Given the description of an element on the screen output the (x, y) to click on. 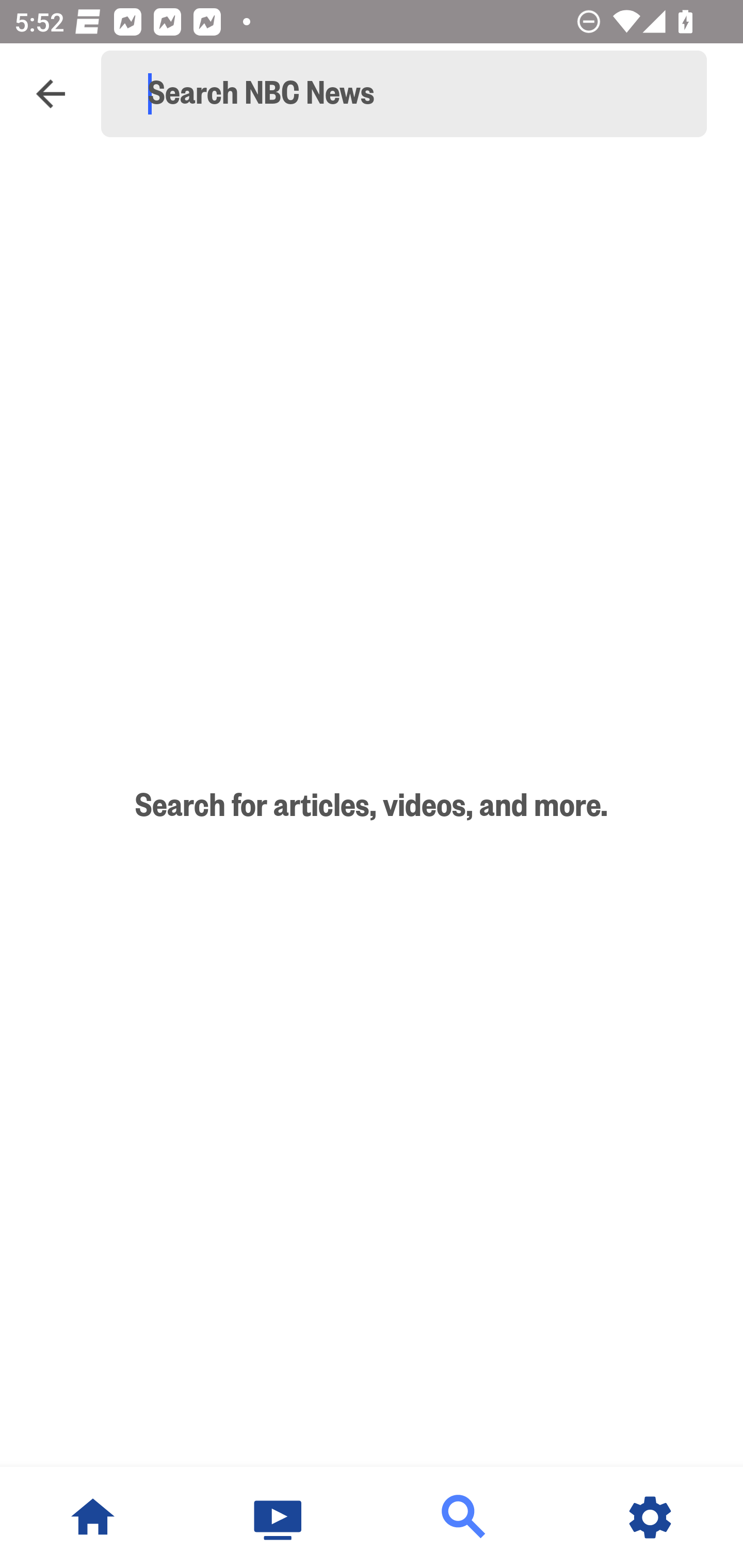
Navigate up (50, 93)
Search NBC News (412, 94)
NBC News Home (92, 1517)
Watch (278, 1517)
Settings (650, 1517)
